Given the description of an element on the screen output the (x, y) to click on. 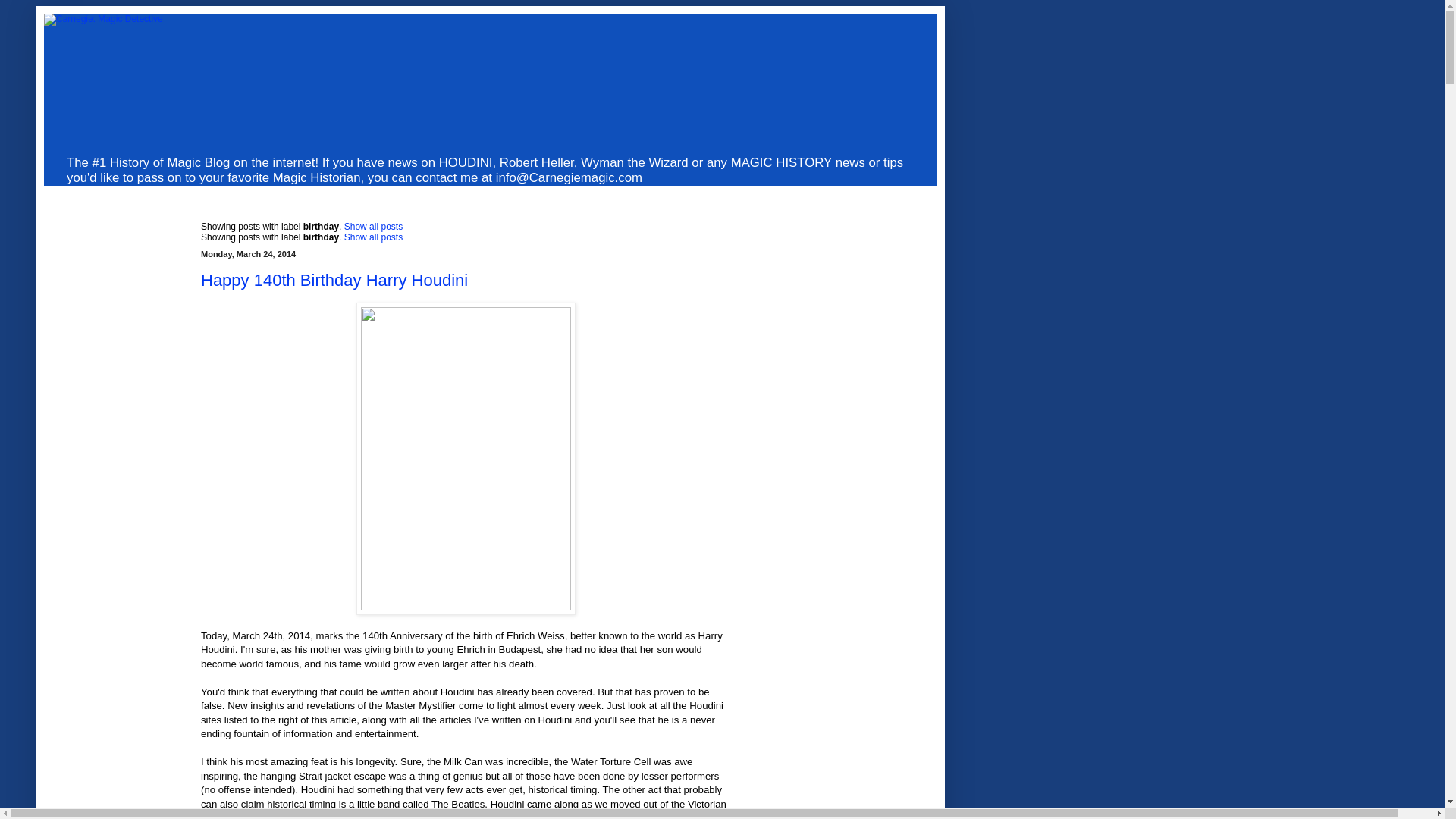
Show all posts (373, 226)
Happy 140th Birthday Harry Houdini (333, 280)
Show all posts (373, 236)
